Given the description of an element on the screen output the (x, y) to click on. 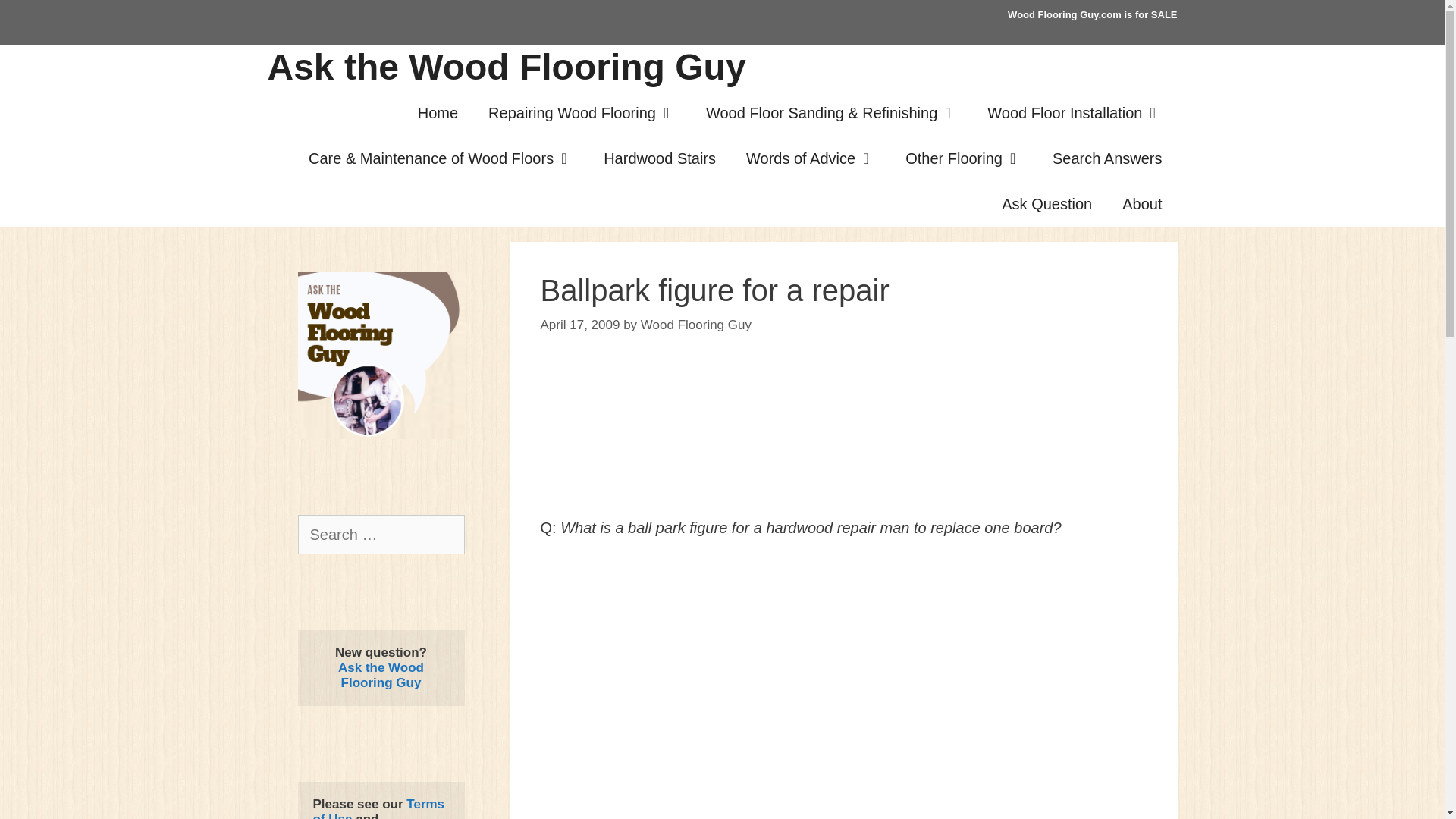
Advertisement (843, 637)
Advertisement (843, 440)
View all posts by Wood Flooring Guy (695, 323)
Wood Flooring Guy.com is for SALE (1091, 14)
Advertisement (843, 777)
Search for: (380, 534)
